Given the description of an element on the screen output the (x, y) to click on. 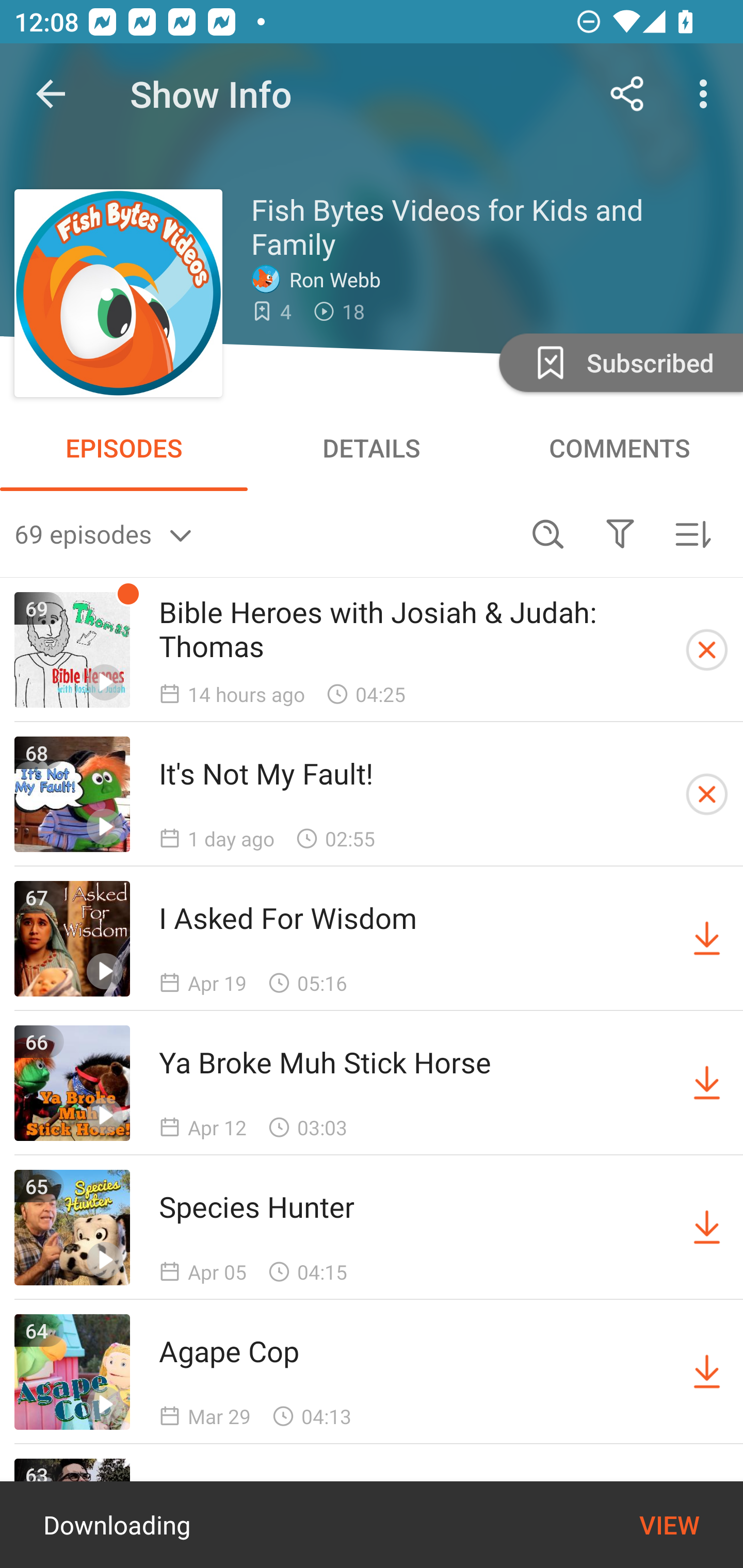
Navigate up (50, 93)
Share (626, 93)
More options (706, 93)
Ron Webb (320, 278)
Unsubscribe Subscribed (619, 361)
EPISODES (123, 447)
DETAILS (371, 447)
COMMENTS (619, 447)
69 episodes  (262, 533)
 Search (547, 533)
 (619, 533)
 Sorted by newest first (692, 533)
Cancel Downloading (706, 649)
Cancel Downloading (706, 793)
Download (706, 939)
Download (706, 1083)
Download (706, 1227)
Download (706, 1371)
VIEW (669, 1524)
